Given the description of an element on the screen output the (x, y) to click on. 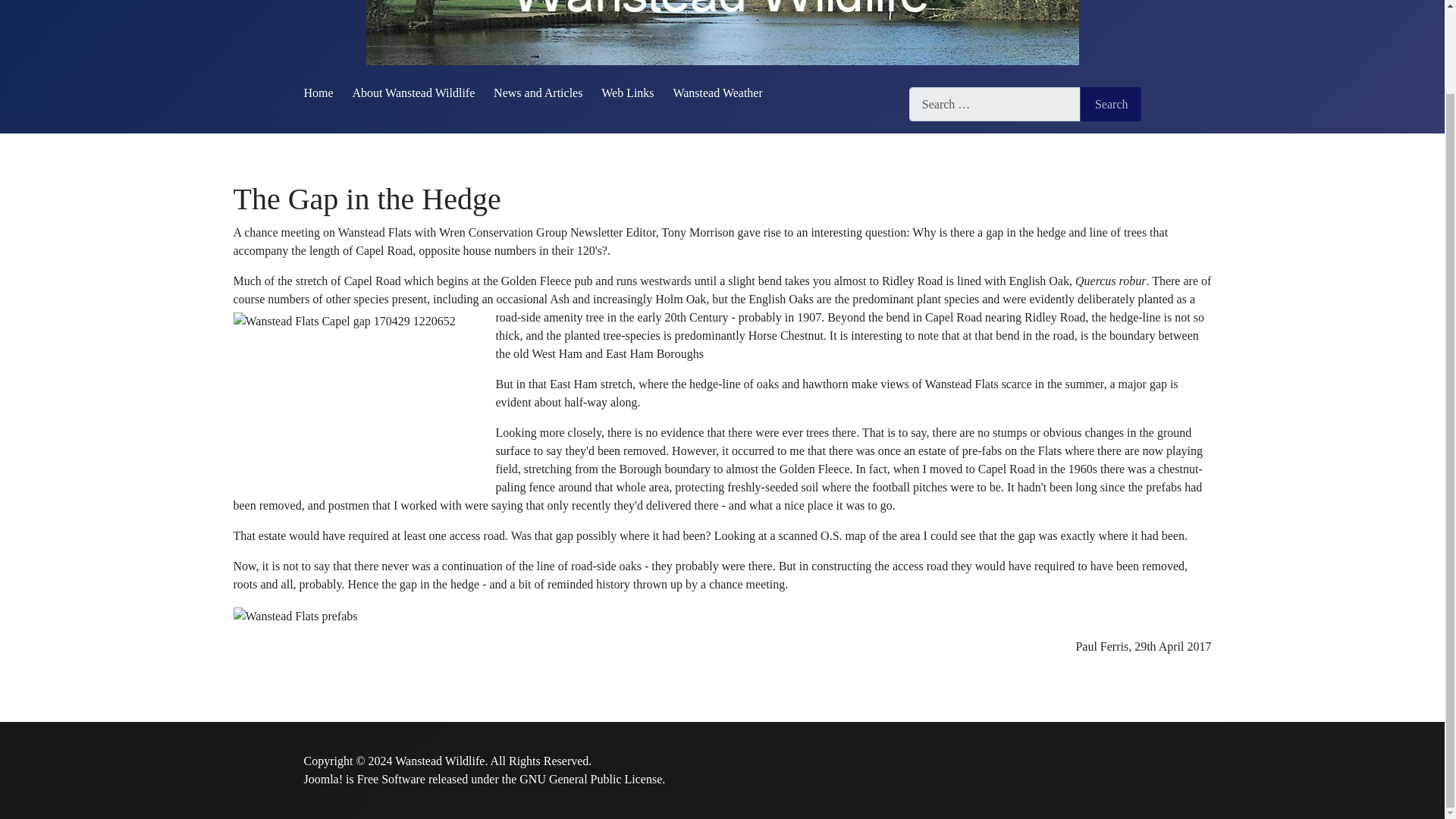
Home (317, 92)
Wanstead Weather (716, 92)
About Wanstead Wildlife (413, 92)
Web Links (627, 92)
Search (1110, 103)
Joomla! (322, 779)
News and Articles (537, 92)
GNU General Public License. (592, 779)
